Given the description of an element on the screen output the (x, y) to click on. 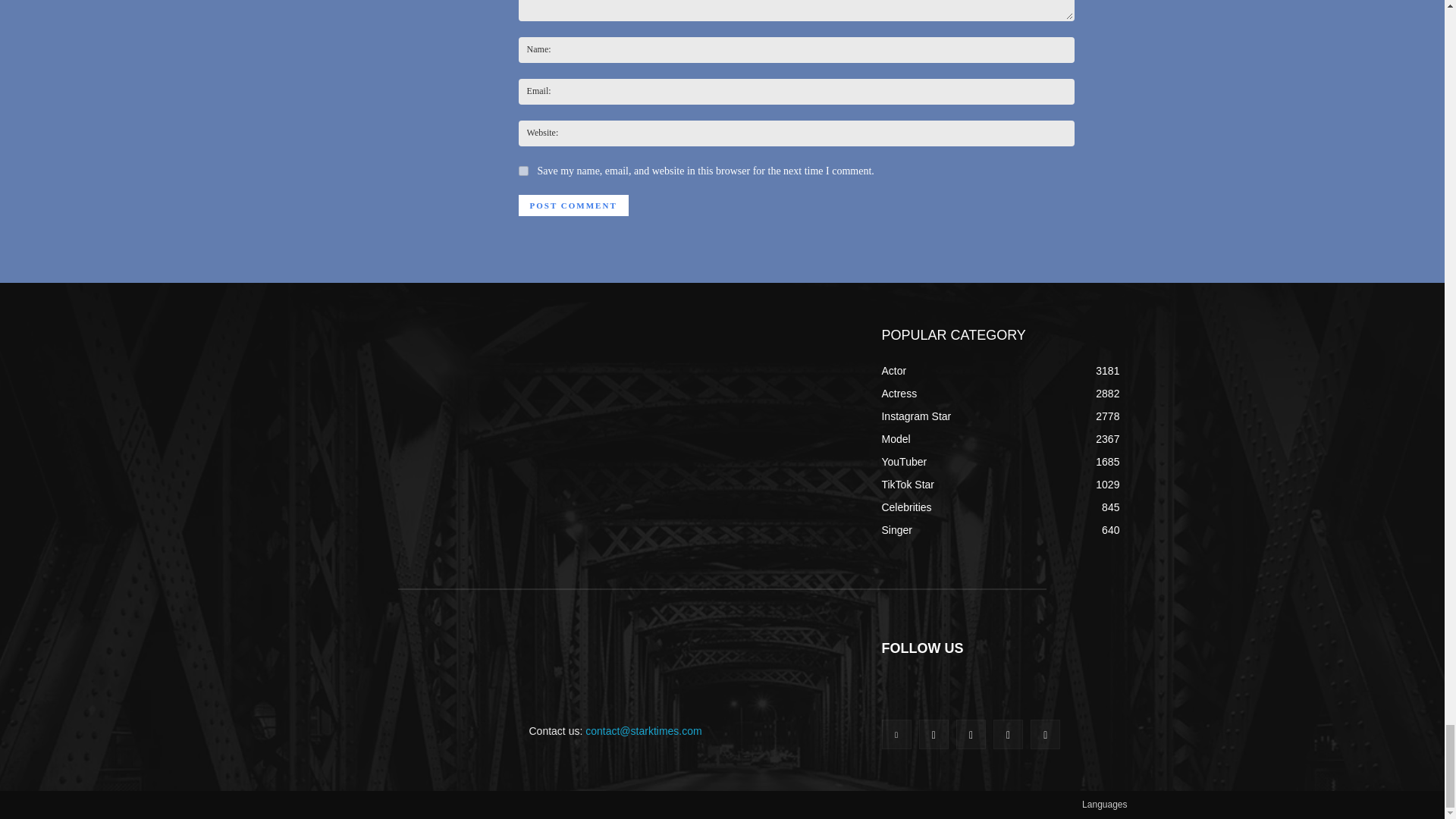
Post Comment (573, 205)
yes (523, 171)
